Given the description of an element on the screen output the (x, y) to click on. 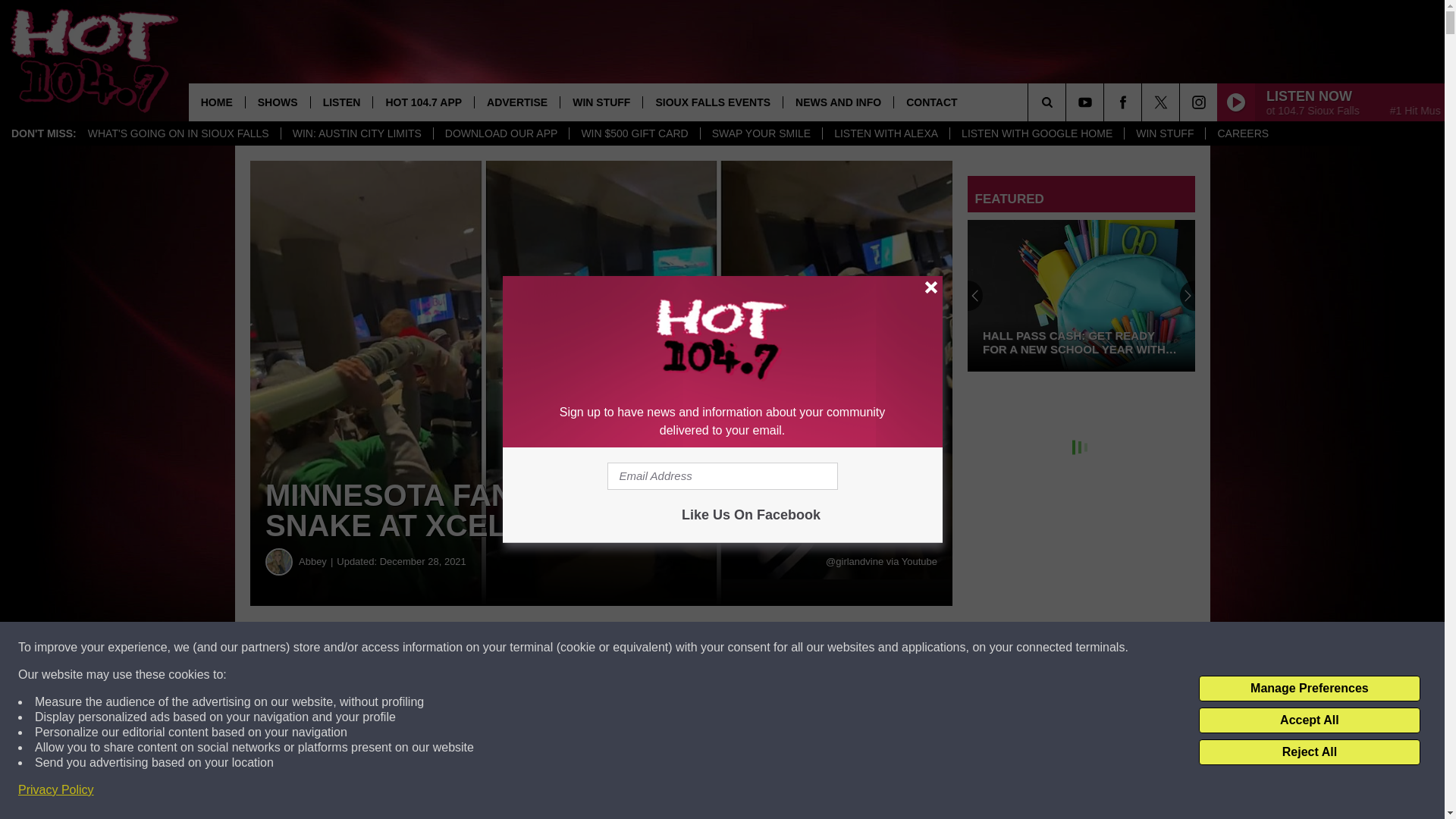
CAREERS (1242, 133)
Manage Preferences (1309, 688)
SWAP YOUR SMILE (761, 133)
HOT 104.7 APP (423, 102)
LISTEN WITH ALEXA (885, 133)
DOWNLOAD OUR APP (500, 133)
WIN STUFF (1164, 133)
SEARCH (1068, 102)
SEARCH (1068, 102)
LISTEN WITH GOOGLE HOME (1036, 133)
Reject All (1309, 751)
WHAT'S GOING ON IN SIOUX FALLS (179, 133)
HOME (216, 102)
WIN STUFF (600, 102)
LISTEN (341, 102)
